Given the description of an element on the screen output the (x, y) to click on. 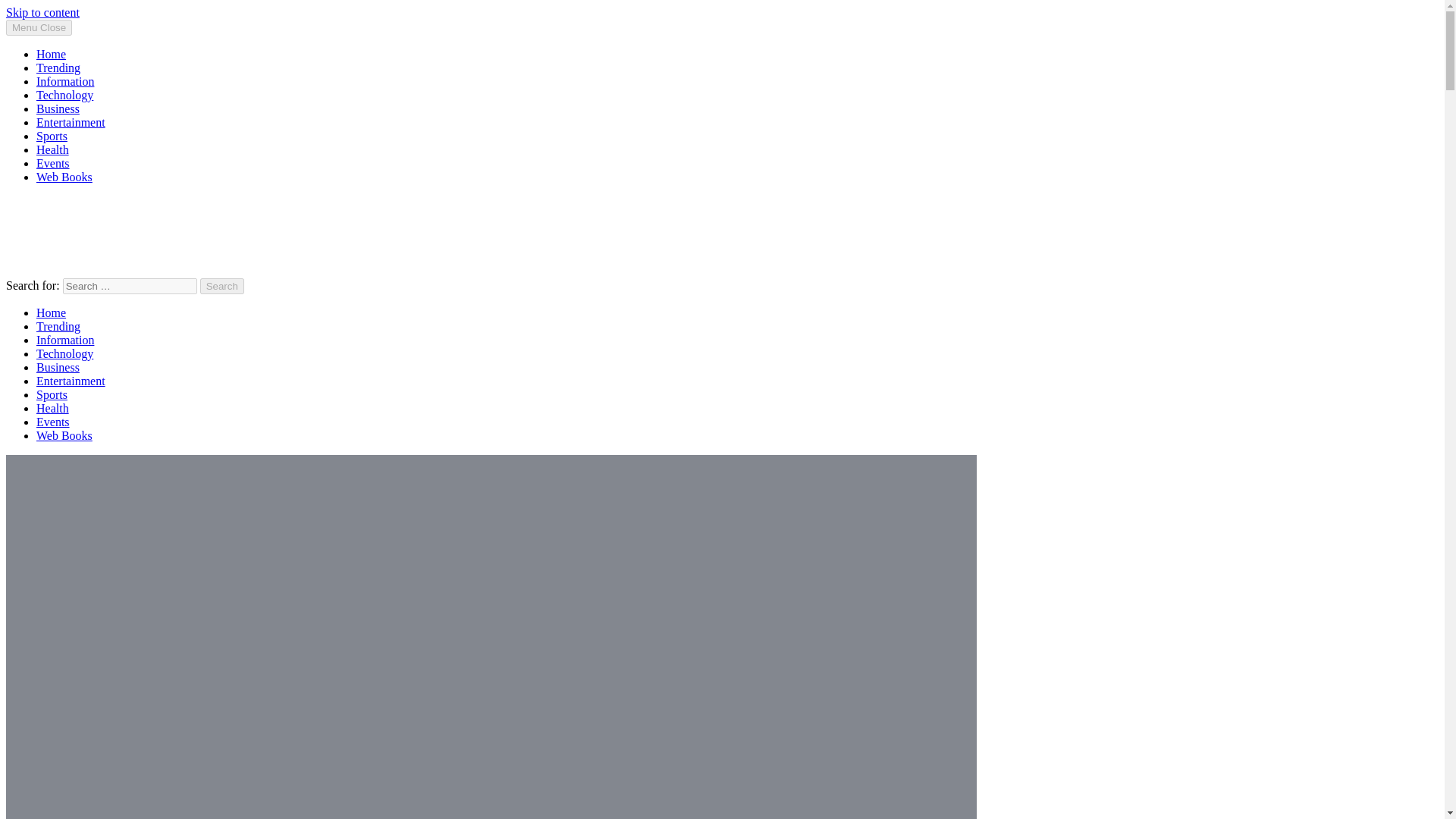
Events (52, 163)
Entertainment (70, 122)
Search (222, 286)
Web Books (64, 176)
Technology (64, 94)
Trending (58, 326)
Home (50, 53)
Information (65, 81)
Skip to content (42, 11)
Business (58, 108)
